Given the description of an element on the screen output the (x, y) to click on. 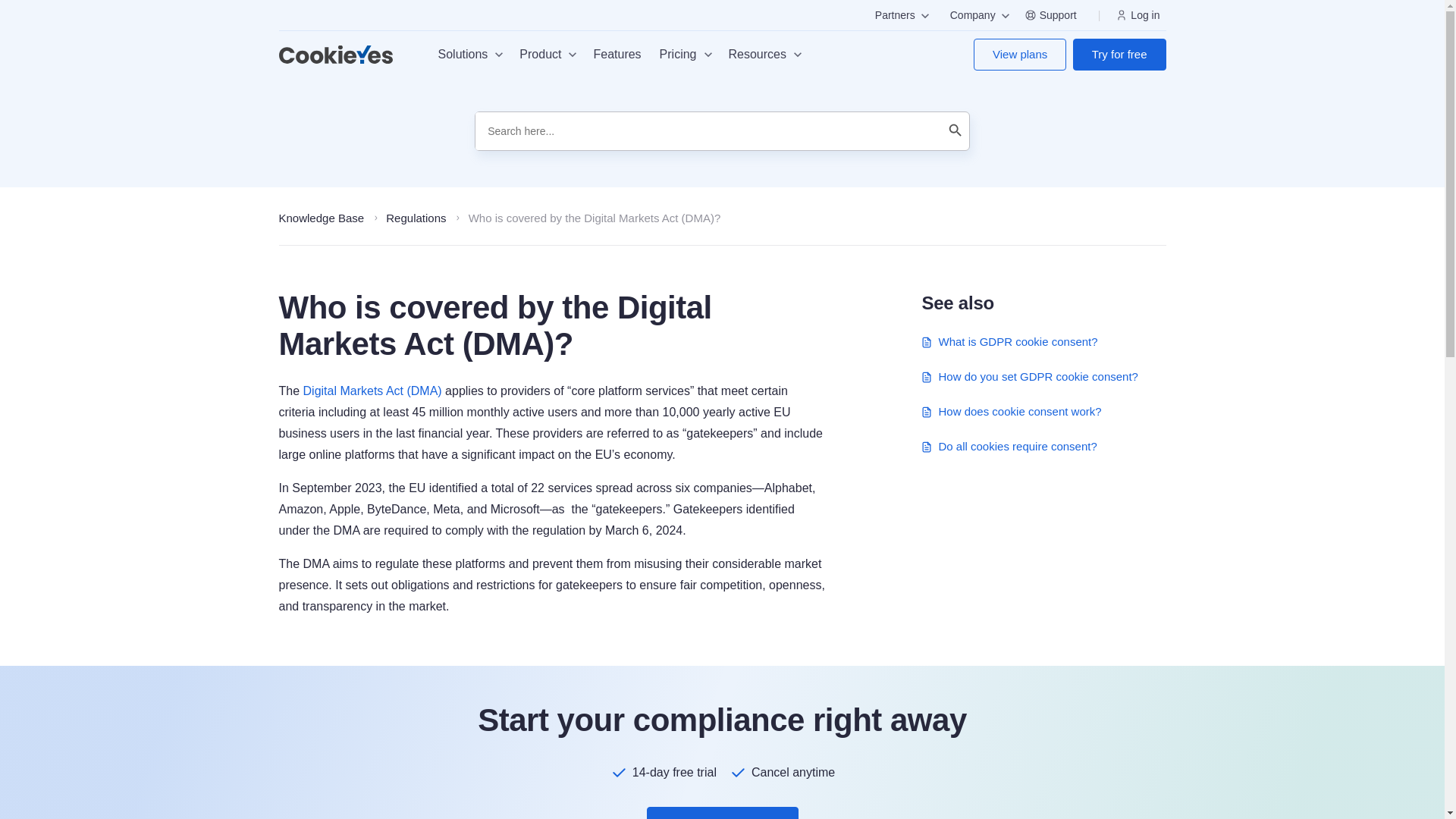
Solutions (470, 54)
Log in (1140, 15)
Partners (898, 15)
Company (976, 15)
Support (1054, 15)
